Given the description of an element on the screen output the (x, y) to click on. 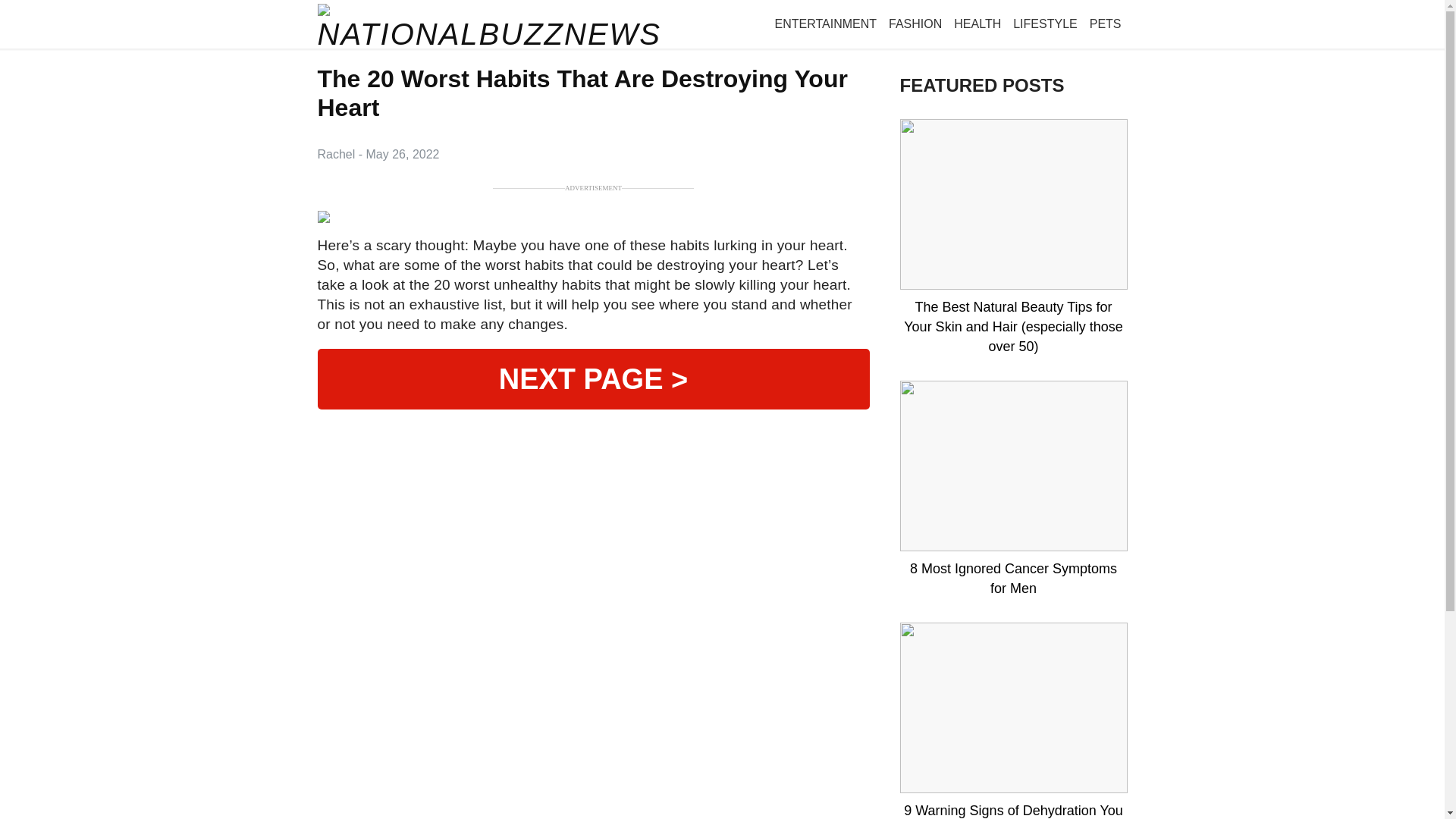
ENTERTAINMENT (825, 24)
8 Most Ignored Cancer Symptoms for Men (1012, 578)
HEALTH (977, 24)
9 Warning Signs of Dehydration You Shouldn't Ignore (1012, 809)
PETS (1104, 24)
LIFESTYLE (1045, 24)
FASHION (914, 24)
